Given the description of an element on the screen output the (x, y) to click on. 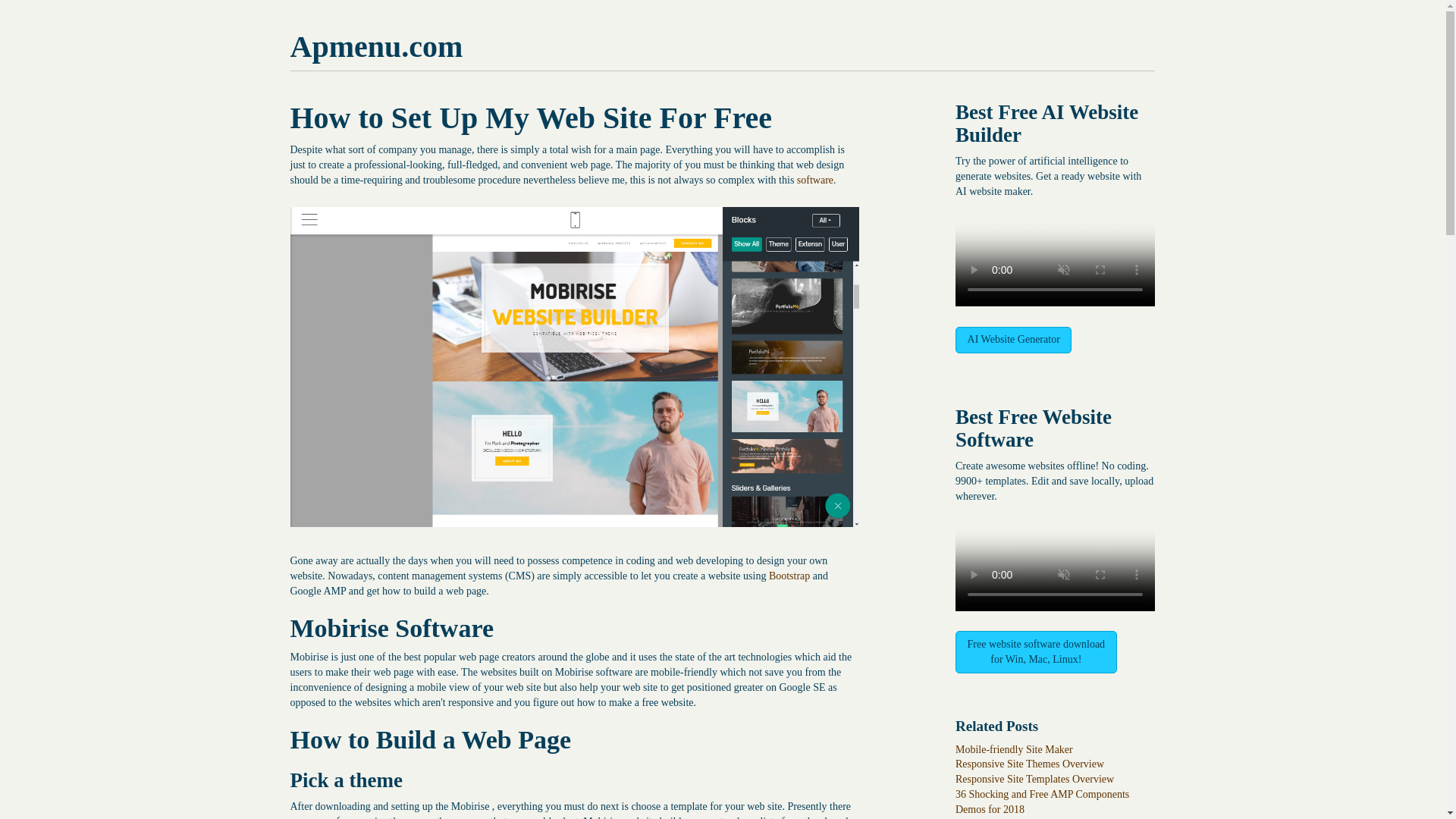
Apmenu.com (376, 46)
AI Website Generator (1013, 339)
AI Website Builder (1046, 123)
software (814, 179)
Website Software (1033, 428)
36 Shocking and Free AMP Components Demos for 2018 (1042, 801)
Bootstrap (788, 575)
Responsive Site Themes Overview (1029, 763)
Mobile-friendly Site Maker (1014, 748)
